Given the description of an element on the screen output the (x, y) to click on. 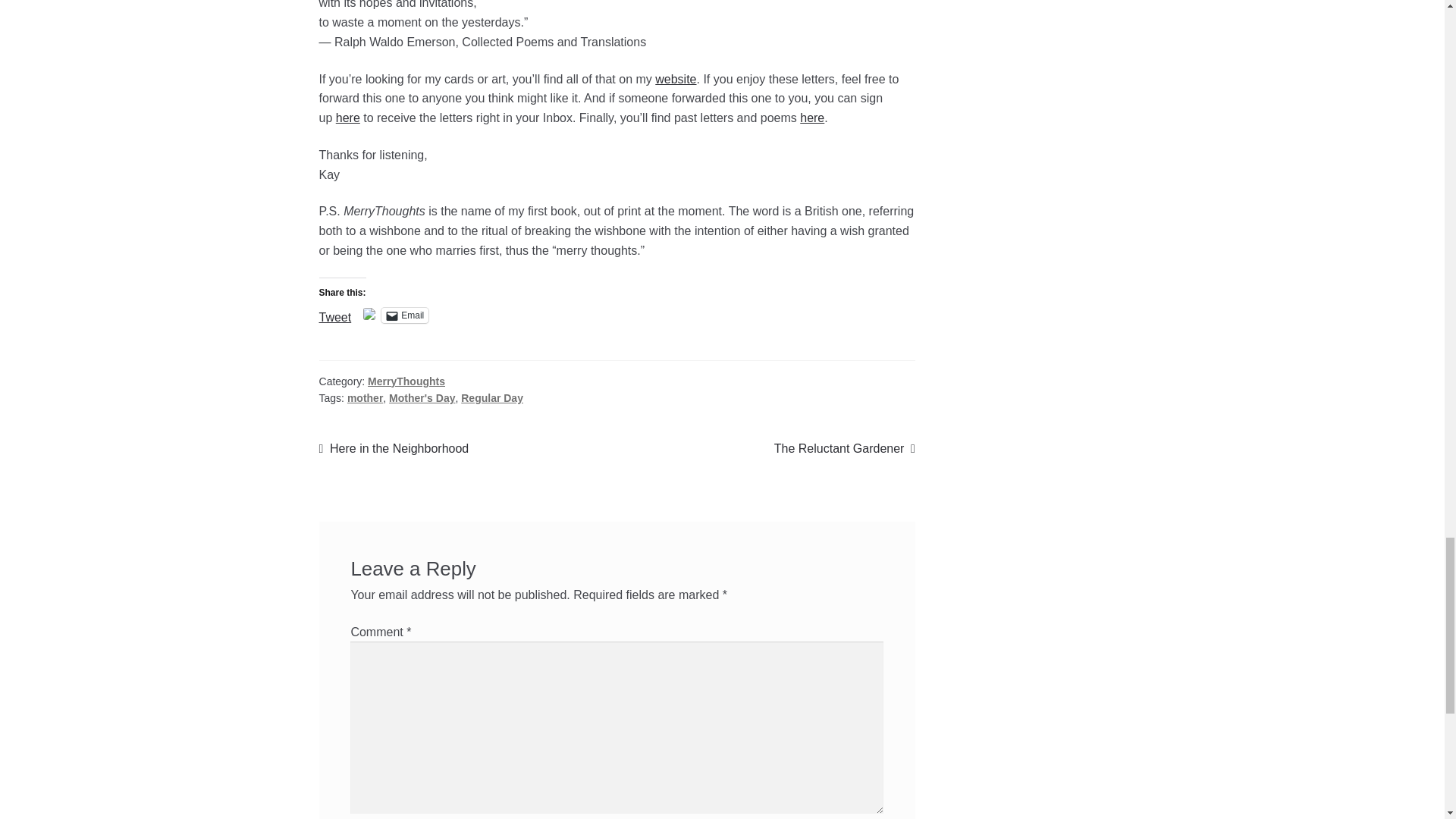
Click to email a link to a friend (404, 314)
website (675, 78)
Regular Day (491, 398)
mother (364, 398)
Mother's Day (421, 398)
MerryThoughts (406, 381)
Tweet (335, 314)
here (844, 448)
here (347, 117)
Email (811, 117)
